Given the description of an element on the screen output the (x, y) to click on. 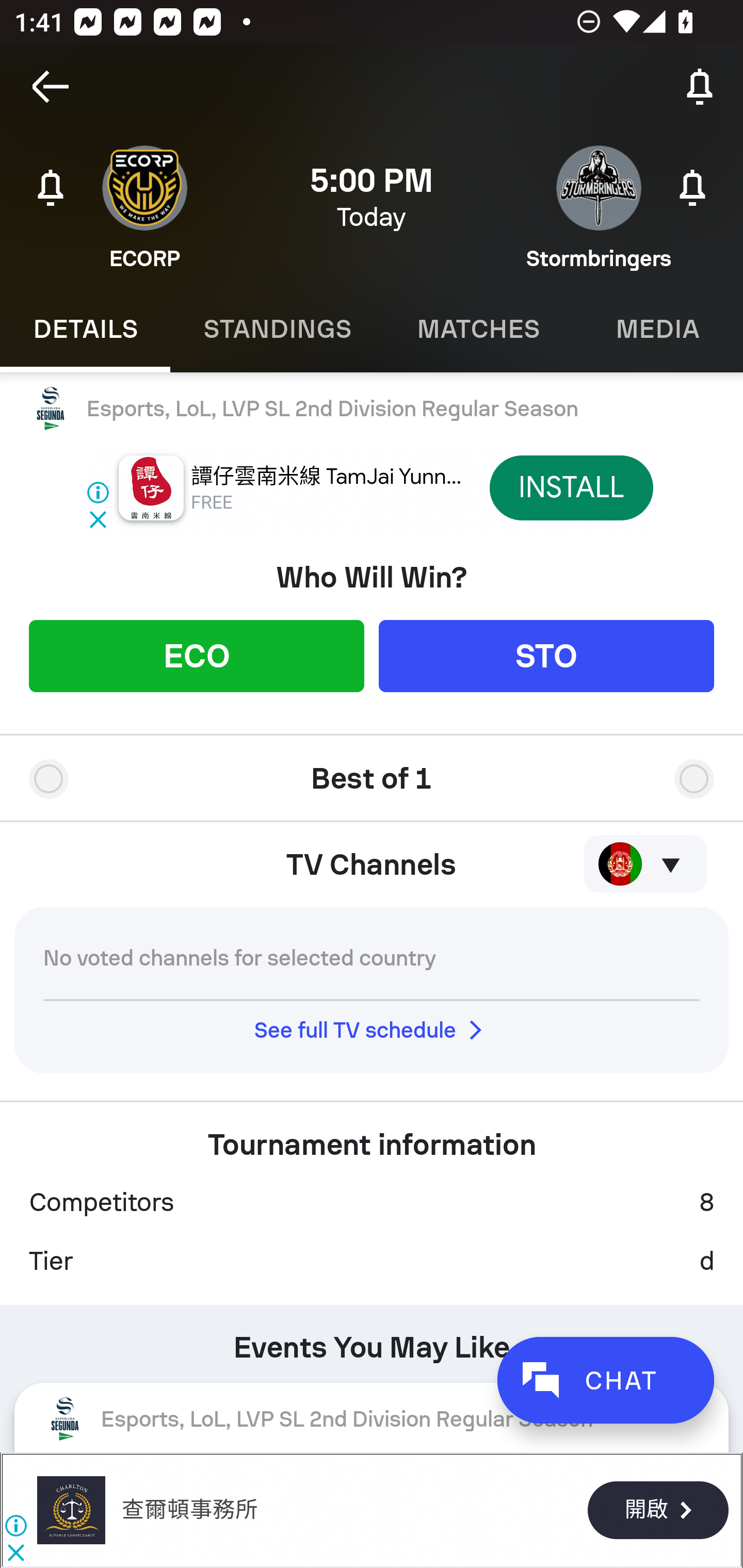
Navigate up (50, 86)
Standings STANDINGS (277, 329)
Matches MATCHES (478, 329)
Media MEDIA (657, 329)
Esports, LoL, LVP SL 2nd Division Regular Season (371, 409)
INSTALL (570, 487)
譚仔雲南米線 TamJai Yunn… (326, 476)
FREE (212, 502)
ECO (196, 655)
STO (546, 655)
Best of 1 (371, 771)
See full TV schedule (371, 1029)
CHAT (605, 1380)
查爾頓離婚事務所 (71, 1509)
開啟 (657, 1511)
查爾頓事務所 (188, 1509)
